Given the description of an element on the screen output the (x, y) to click on. 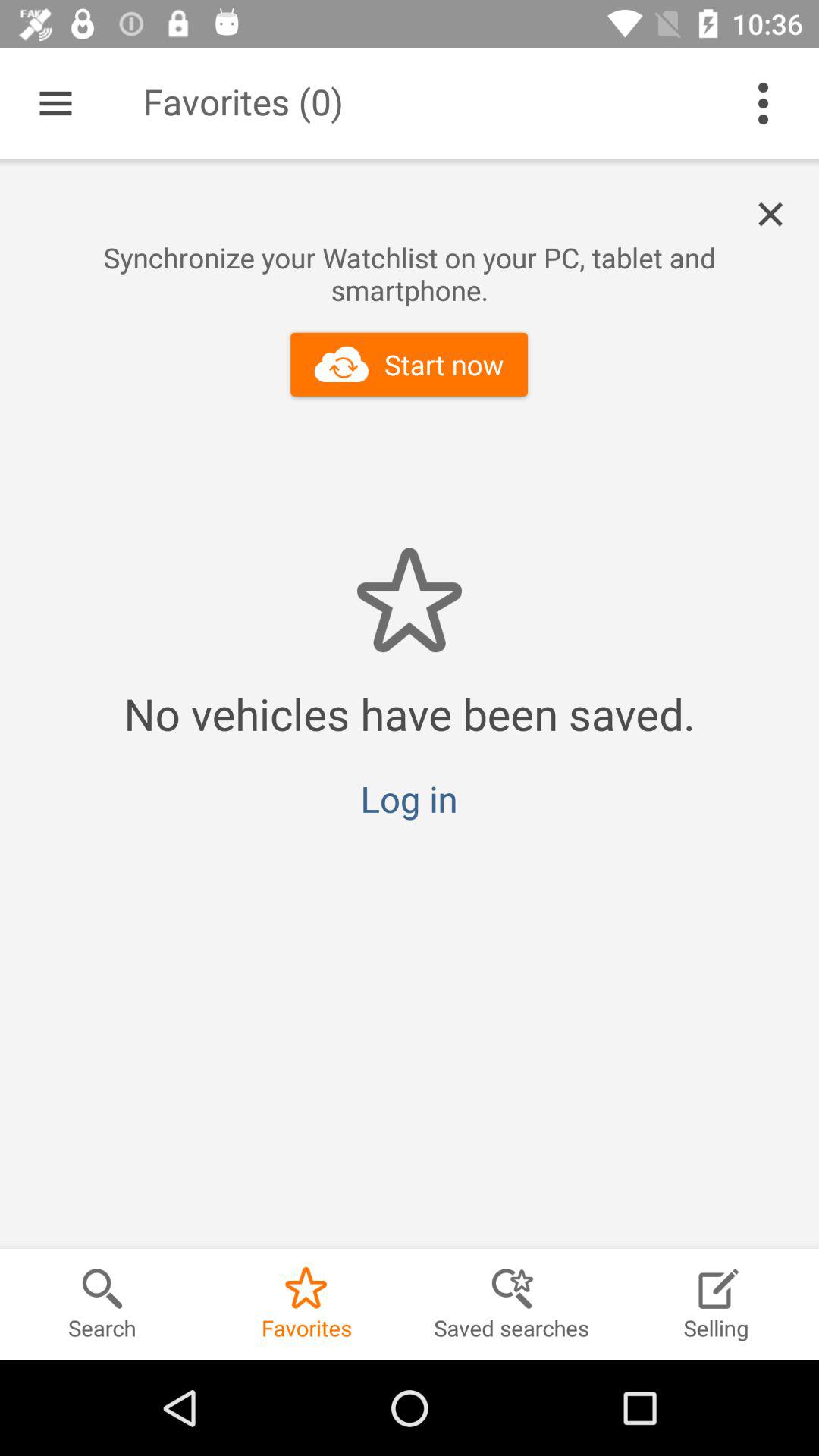
tap icon above the synchronize your watchlist icon (779, 214)
